Given the description of an element on the screen output the (x, y) to click on. 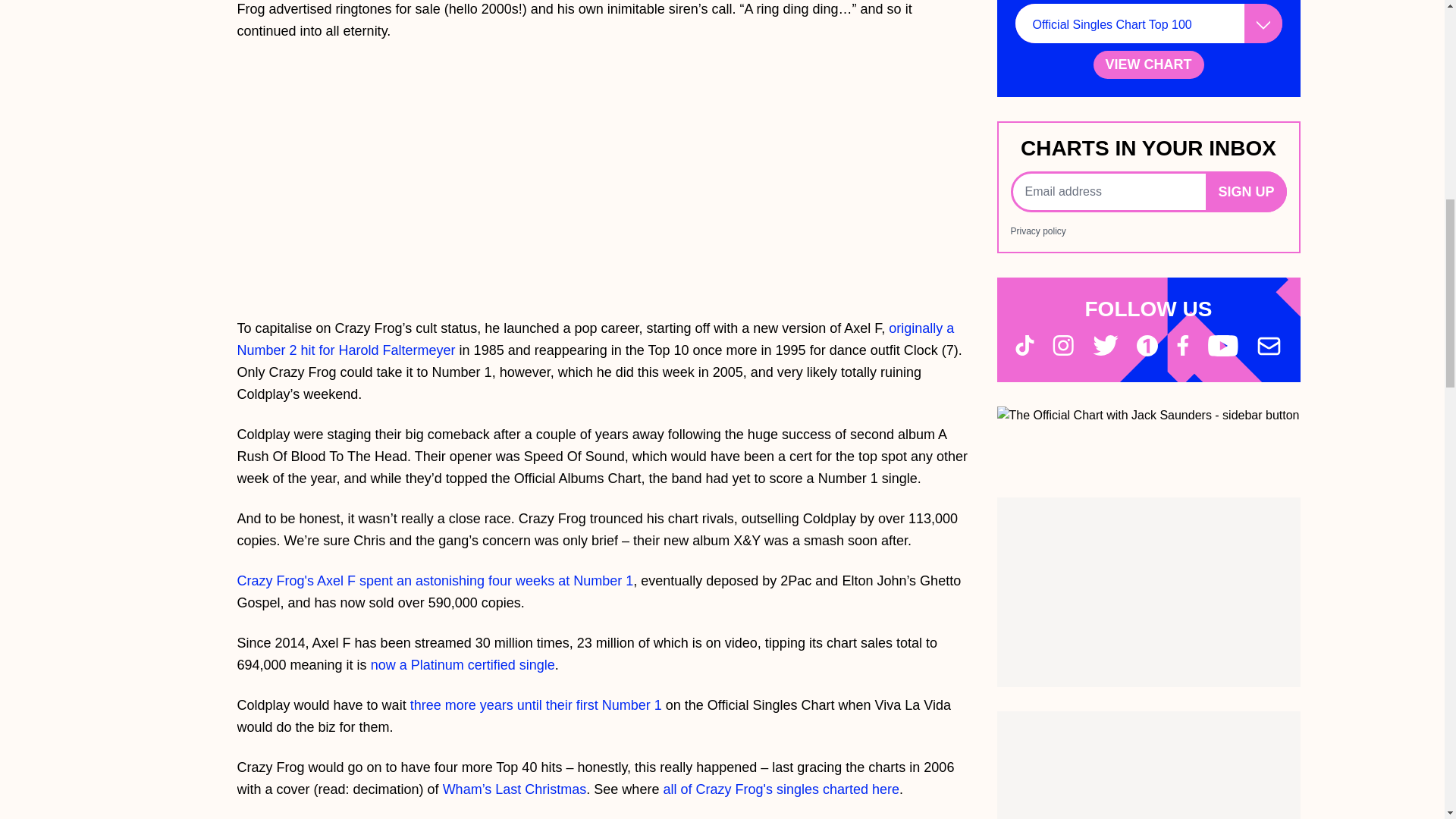
Listen to The Official Chart on BBC Radio 1 (1147, 415)
originally a Number 2 hit for Harold Faltermeyer (594, 339)
View chart (1148, 64)
Crazy Frog Axel F (434, 580)
